Given the description of an element on the screen output the (x, y) to click on. 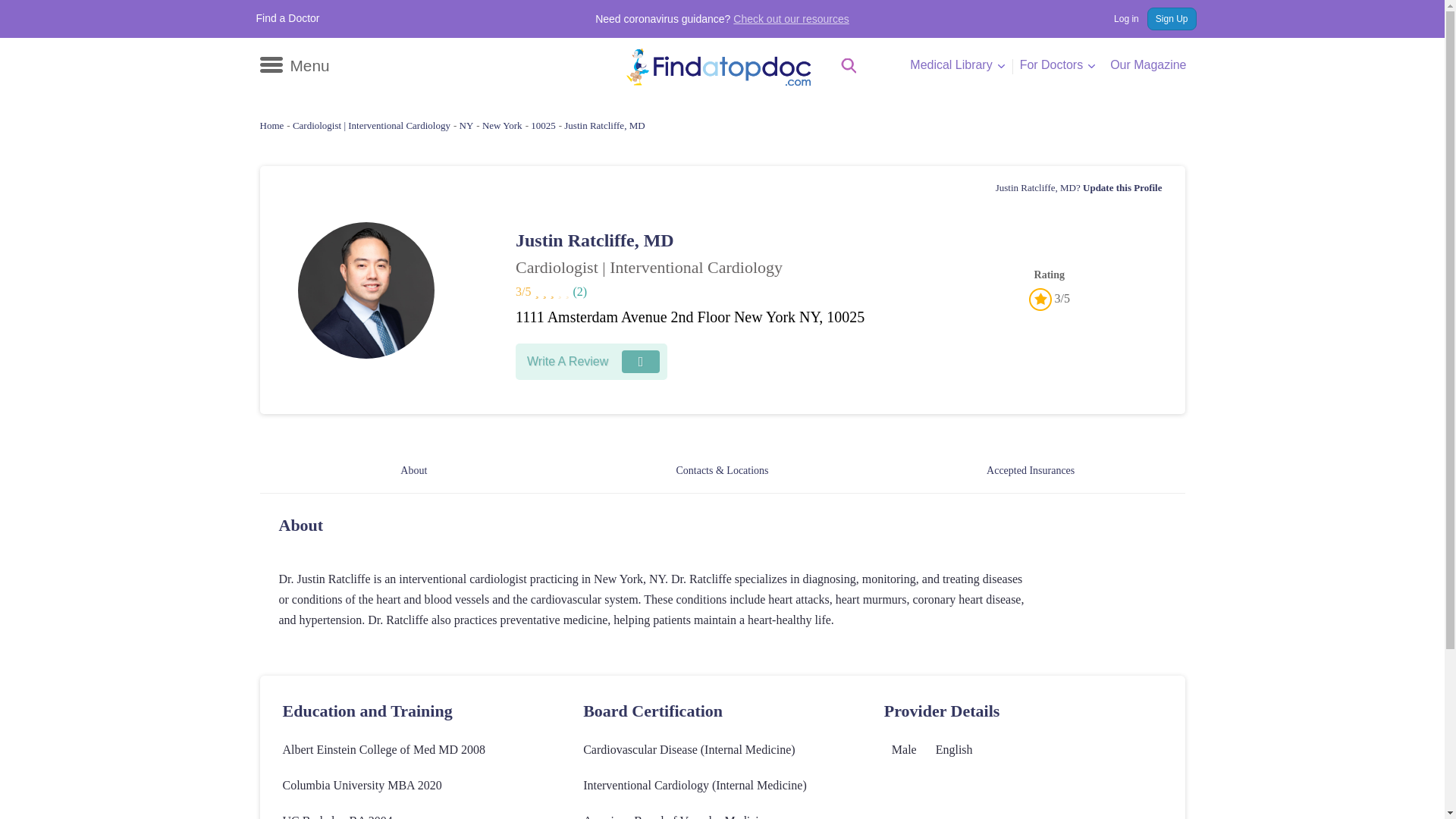
Log in (1118, 18)
Find a Doctor (287, 17)
Sign Up (1171, 18)
Log in (1118, 18)
Menu (294, 65)
Check out our resources (790, 19)
Sign Up (1171, 18)
